Given the description of an element on the screen output the (x, y) to click on. 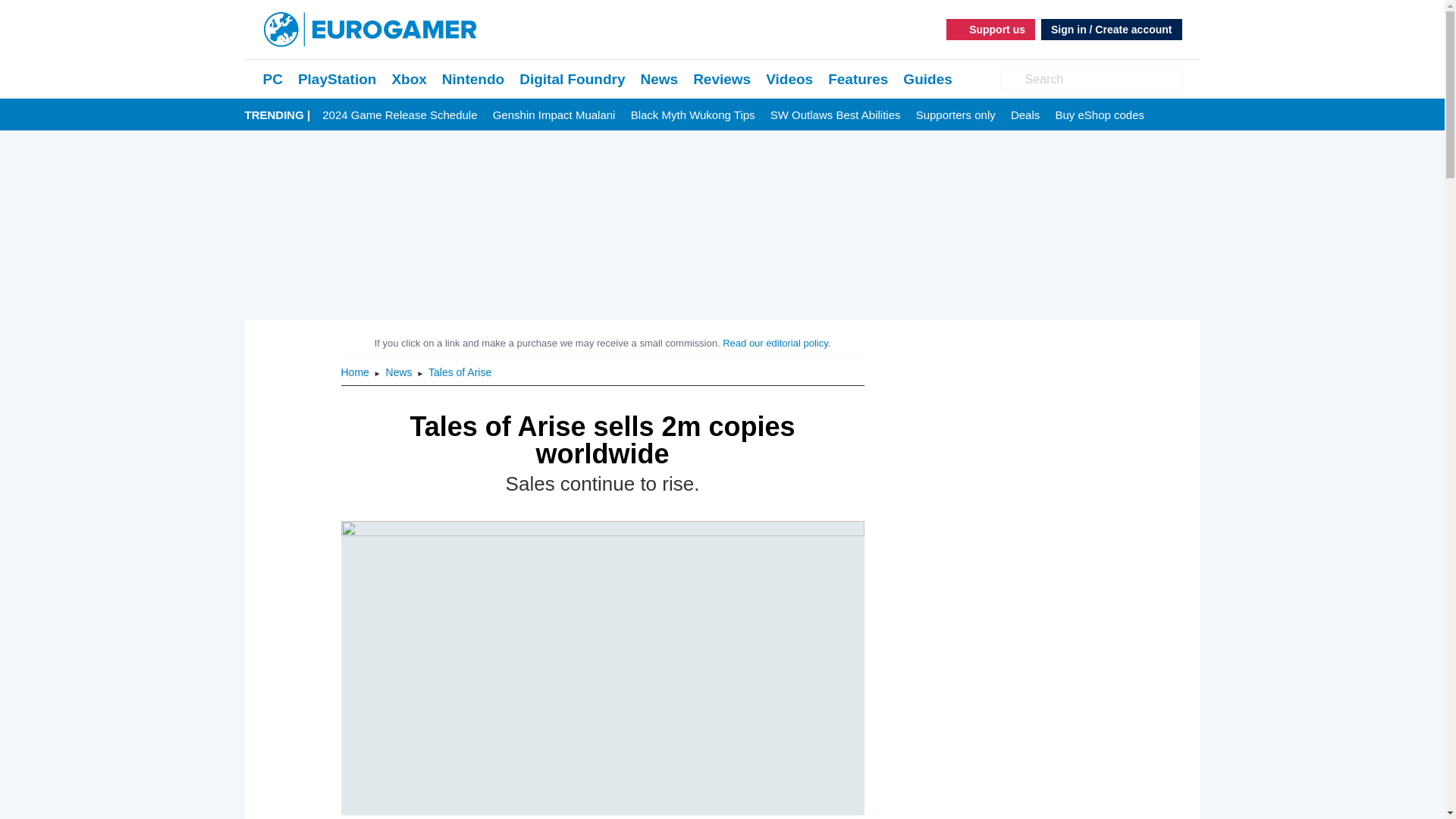
Genshin Impact Mualani (554, 114)
Features (858, 78)
2024 Game Release Schedule (399, 114)
Deals (1024, 114)
Home (356, 372)
News (659, 78)
Reviews (722, 78)
Buy eShop codes (1099, 114)
Supporters only (955, 114)
PlayStation (336, 78)
